Given the description of an element on the screen output the (x, y) to click on. 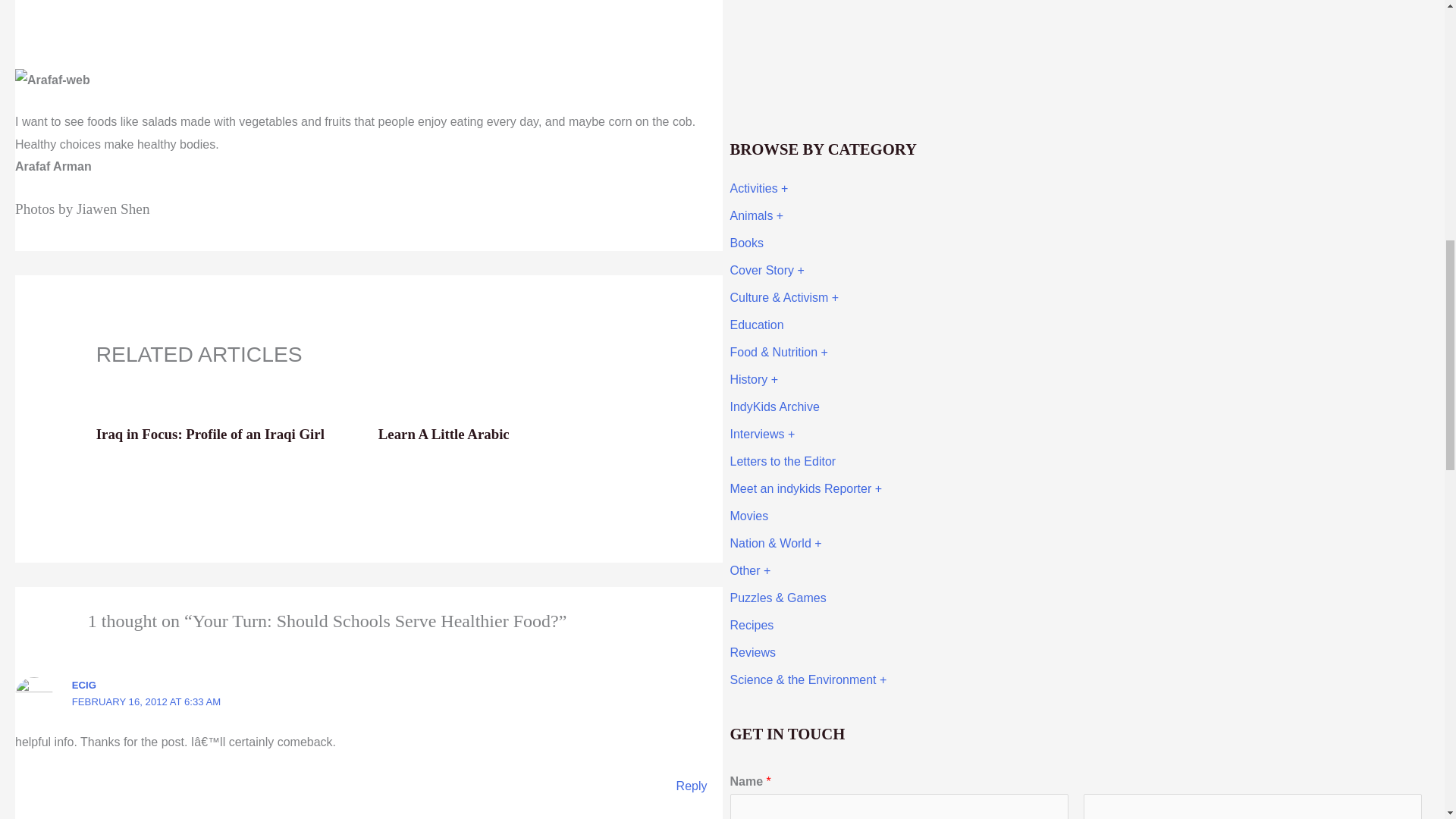
Iraq in Focus: Profile of an Iraqi Girl (210, 433)
Learn A Little Arabic (443, 433)
Arafaf-web (52, 79)
